Given the description of an element on the screen output the (x, y) to click on. 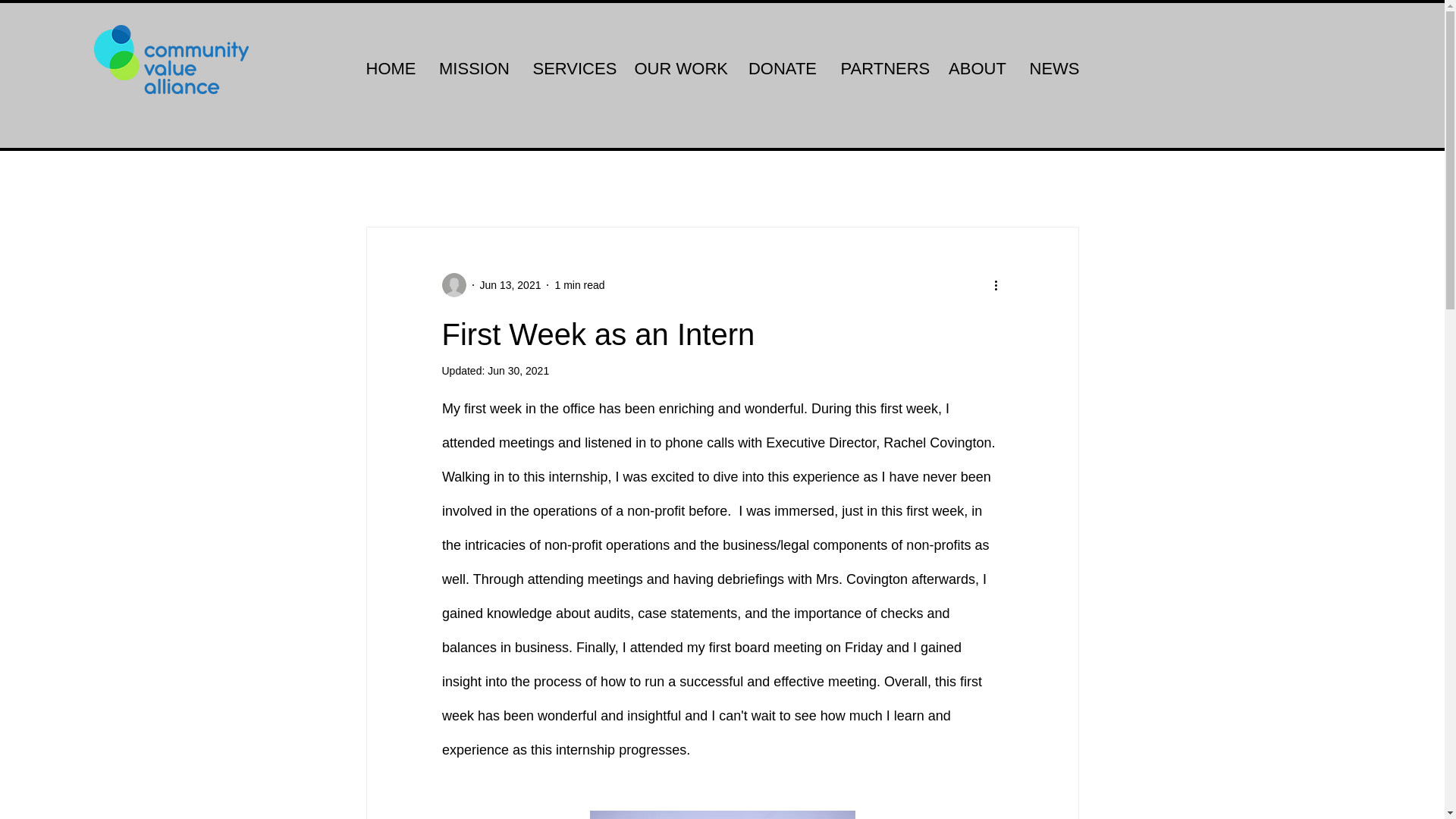
DONATE (781, 68)
PARTNERS (883, 68)
Jun 30, 2021 (517, 370)
ABOUT (977, 68)
NEWS (1053, 68)
OUR WORK (679, 68)
HOME (391, 68)
Jun 13, 2021 (509, 285)
MISSION (474, 68)
SERVICES (572, 68)
1 min read (579, 285)
